Given the description of an element on the screen output the (x, y) to click on. 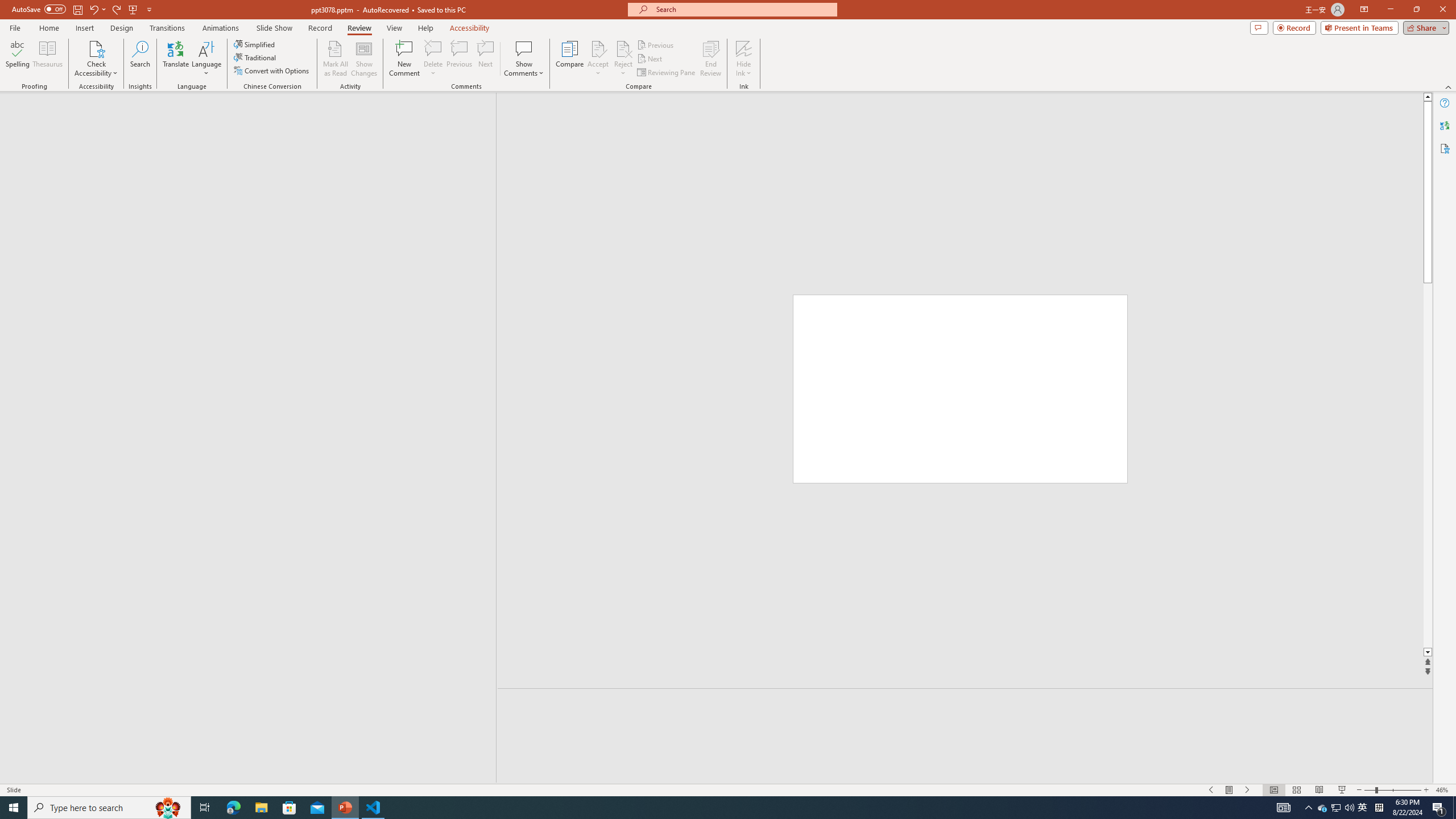
Traditional (255, 56)
Accept Change (598, 48)
